Given the description of an element on the screen output the (x, y) to click on. 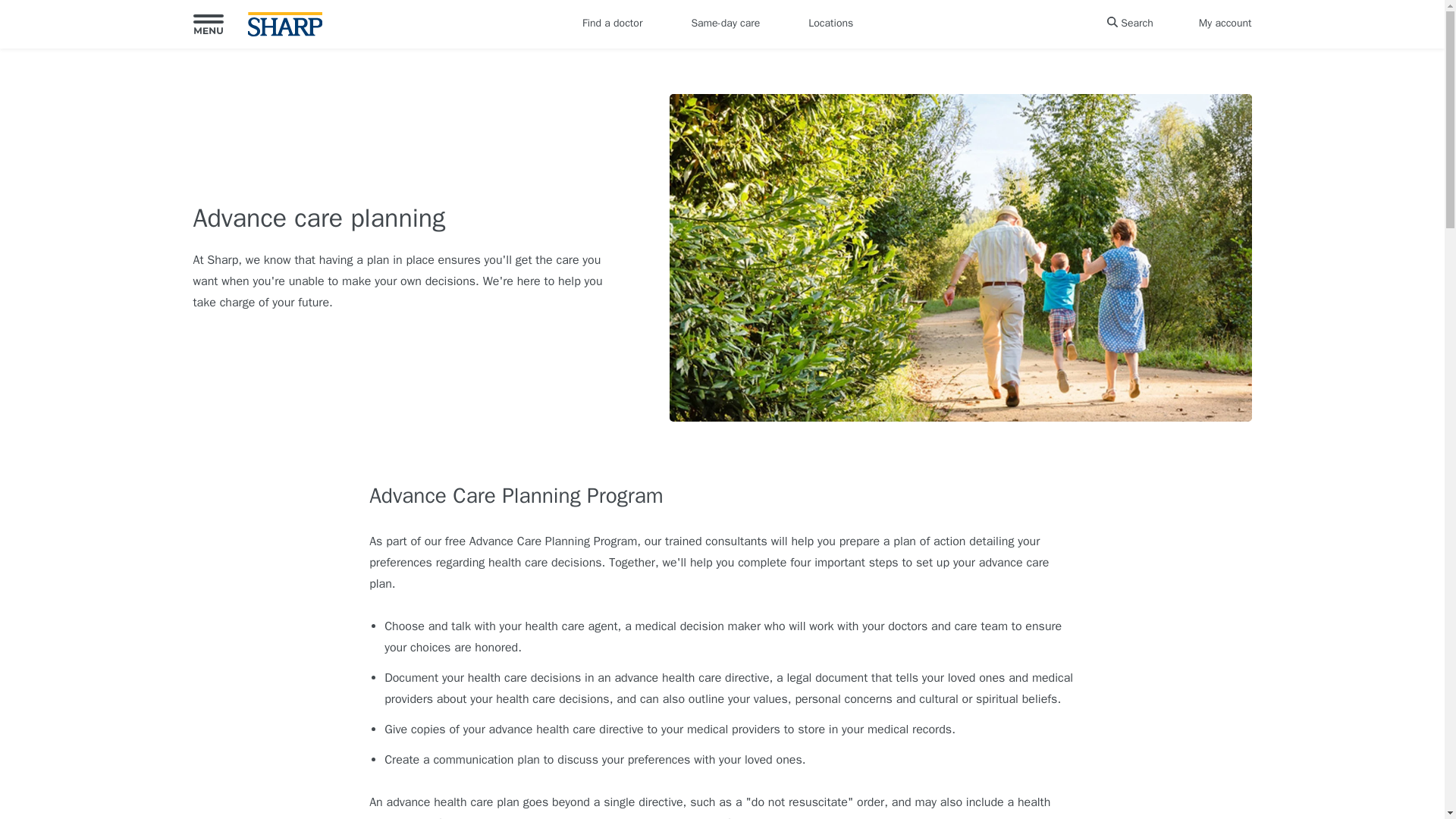
Locations (830, 24)
Search (1129, 23)
My account (1225, 23)
Same-day care (725, 24)
Find a doctor (611, 24)
